Given the description of an element on the screen output the (x, y) to click on. 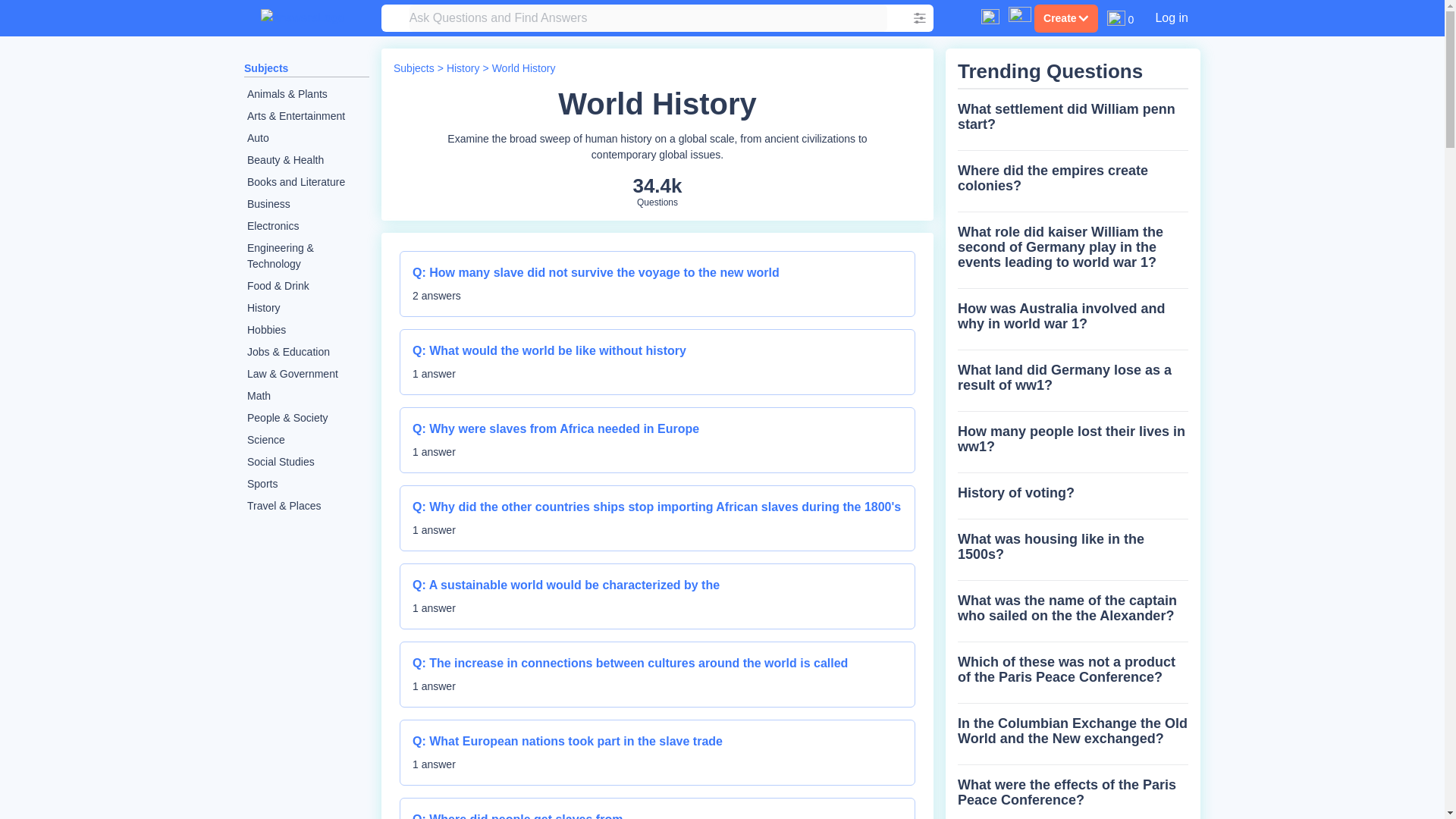
Auto (306, 138)
History (463, 68)
Math (657, 814)
World History (306, 395)
Hobbies (524, 68)
Social Studies (306, 330)
Science (306, 462)
Create (306, 440)
